Given the description of an element on the screen output the (x, y) to click on. 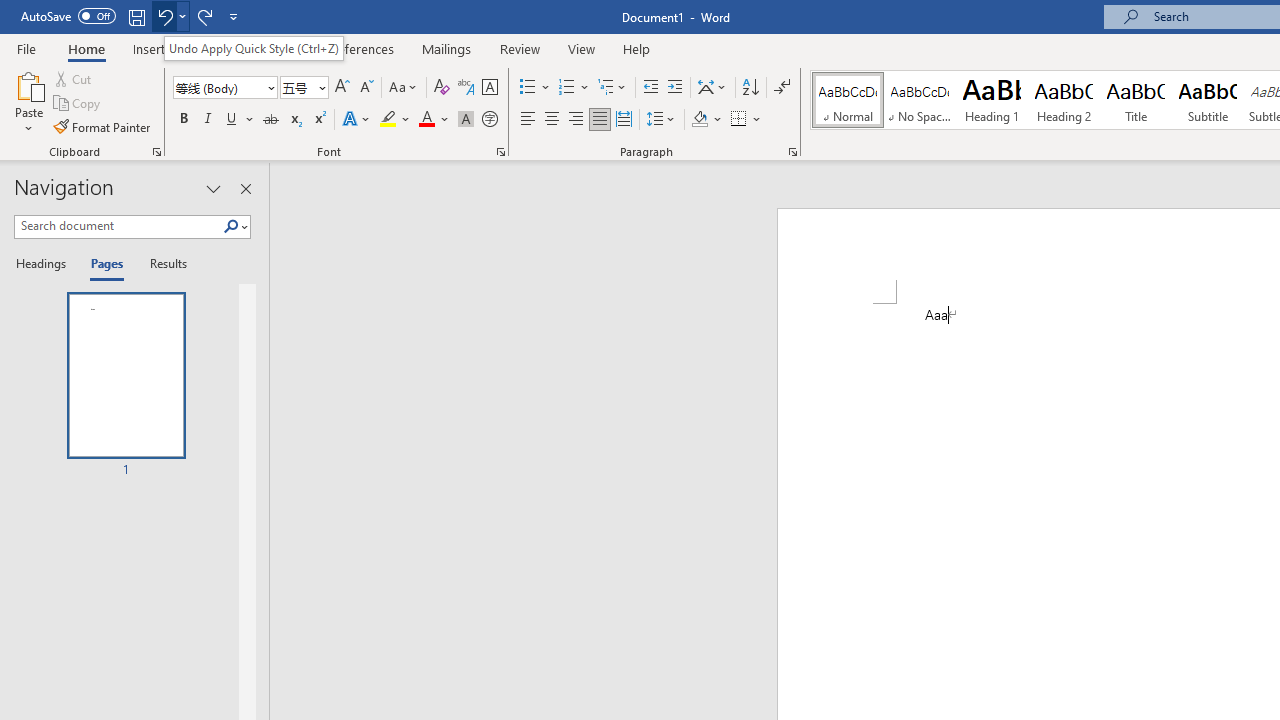
Character Shading (465, 119)
Justify (599, 119)
Line and Paragraph Spacing (661, 119)
Font Color (434, 119)
Superscript (319, 119)
Grow Font (342, 87)
Text Effects and Typography (357, 119)
Character Border (489, 87)
Change Case (404, 87)
Multilevel List (613, 87)
